Given the description of an element on the screen output the (x, y) to click on. 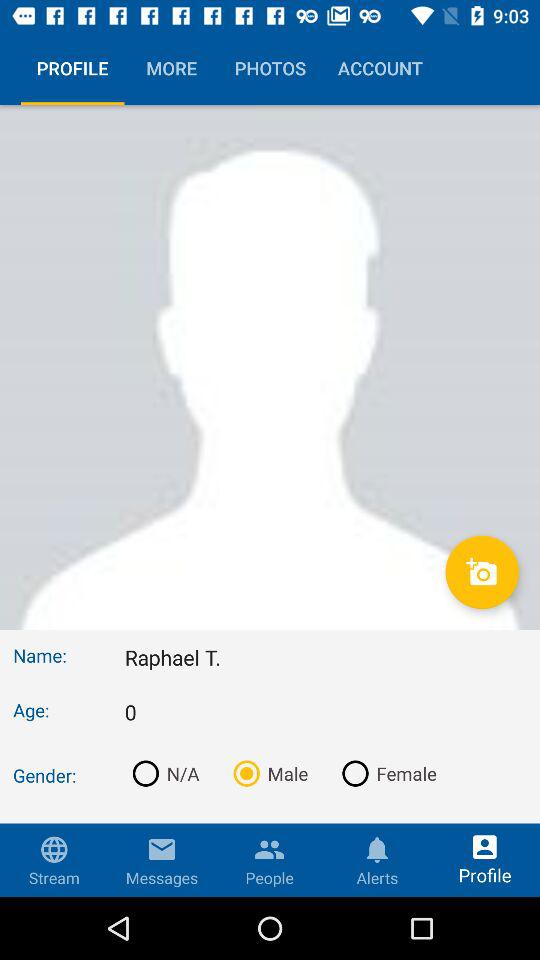
turn on the item below the 0 item (266, 773)
